Given the description of an element on the screen output the (x, y) to click on. 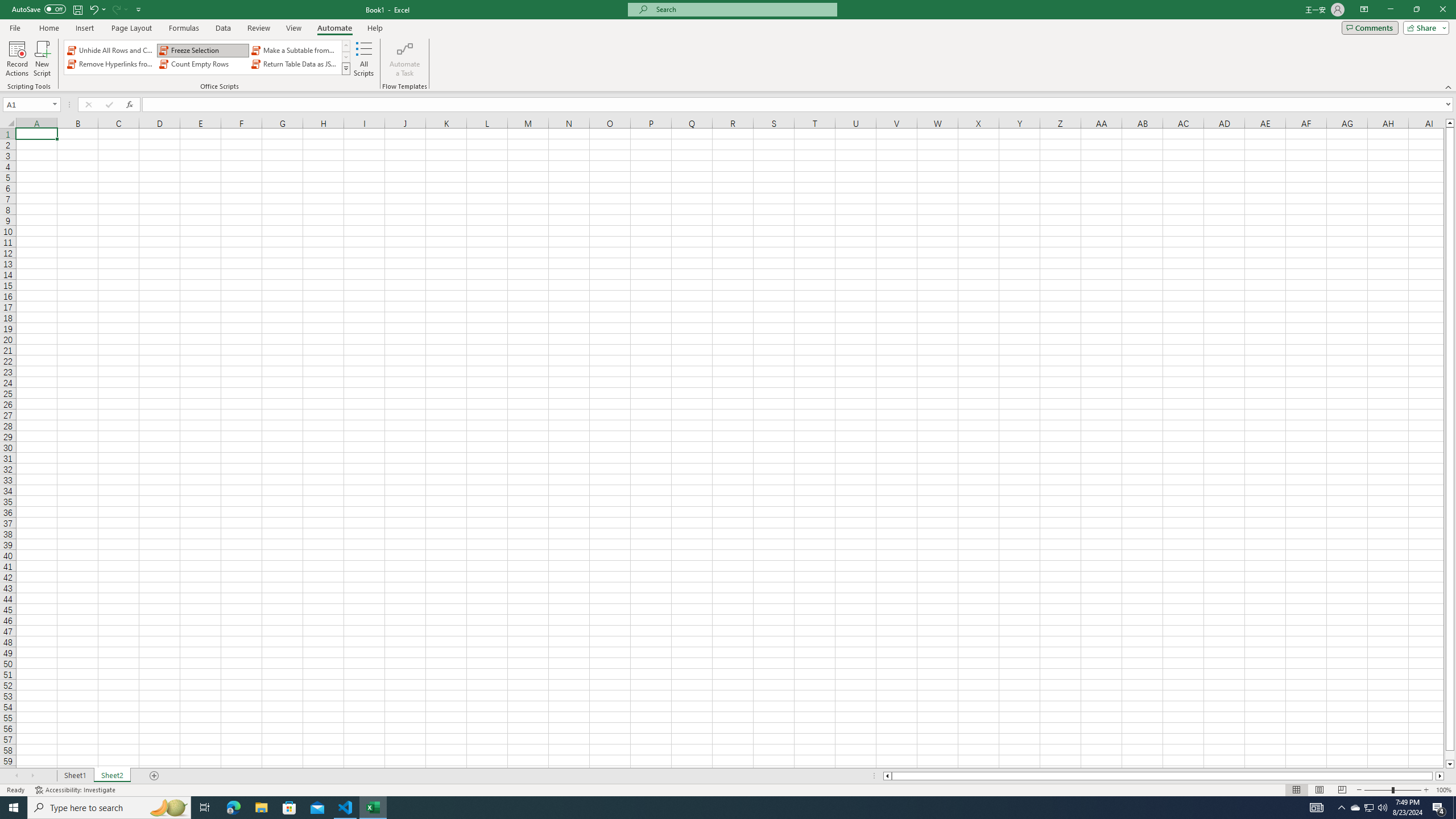
Scroll Left (16, 775)
Count Empty Rows (202, 64)
Add Sheet (155, 775)
Scroll Right (32, 775)
Page Break Preview (1342, 790)
Record Actions (17, 58)
Remove Hyperlinks from Sheet (111, 64)
Data (223, 28)
Ribbon Display Options (1364, 9)
Minimize (1390, 9)
AutoSave (38, 9)
Page right (1433, 775)
